Given the description of an element on the screen output the (x, y) to click on. 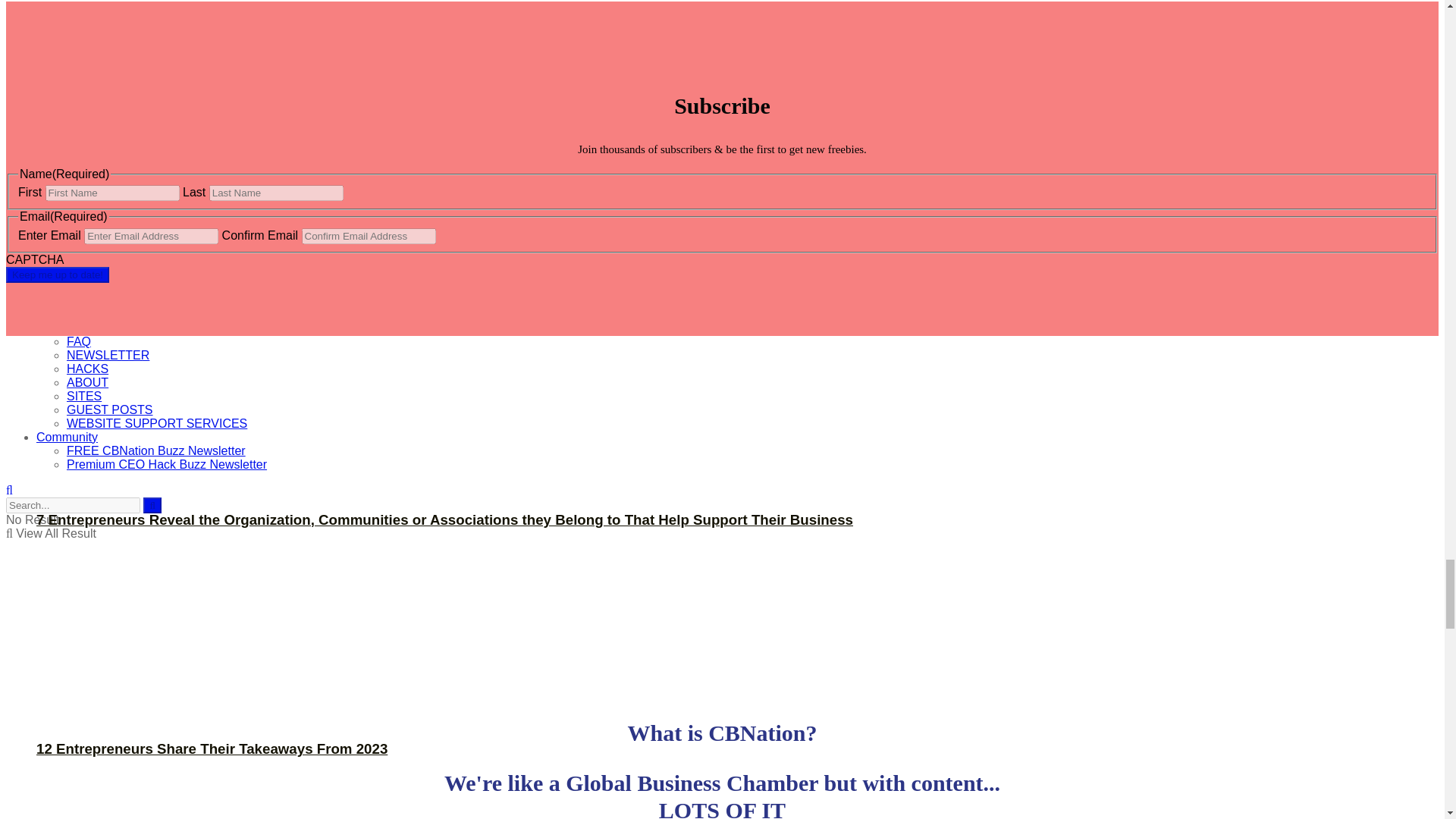
Keep me up to date! (57, 274)
